Given the description of an element on the screen output the (x, y) to click on. 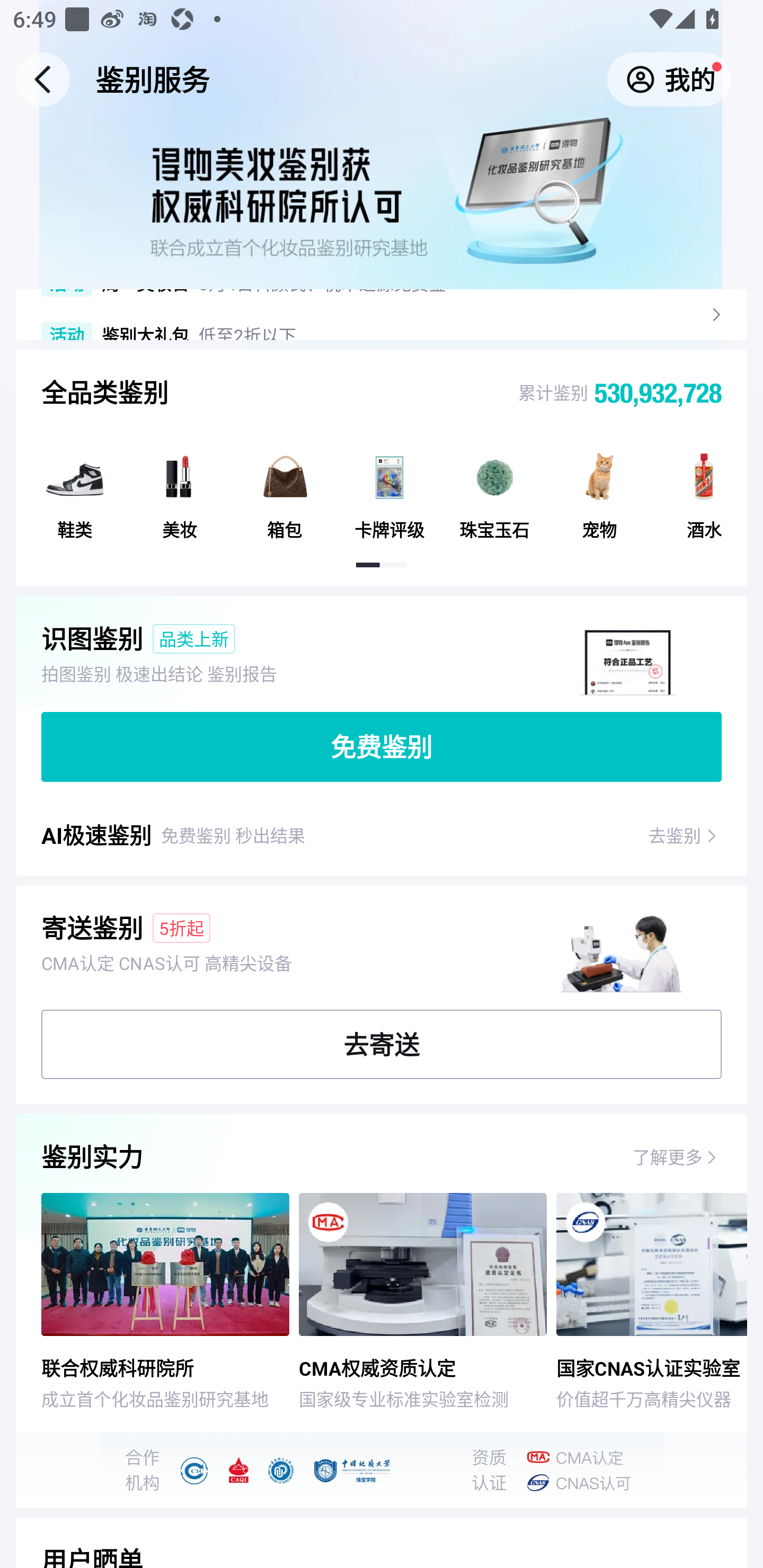
鞋类 (74, 488)
美妆 (179, 488)
箱包 (284, 488)
卡牌评级 (388, 488)
珠宝玉石 (494, 488)
宠物 (599, 488)
酒水 (703, 488)
免费鉴别 (381, 746)
AI极速鉴别 免费鉴别 秒出结果 去鉴别 (381, 840)
去寄送 (381, 1043)
了解更多 (667, 1156)
联合权威科研院所 成立首个化妆品鉴别研究基地 (157, 1302)
CMA权威资质认定 国家级专业标准实验室检测 (427, 1302)
国家CNAS认证实验室 价值超千万高精尖仪器 (651, 1302)
